Given the description of an element on the screen output the (x, y) to click on. 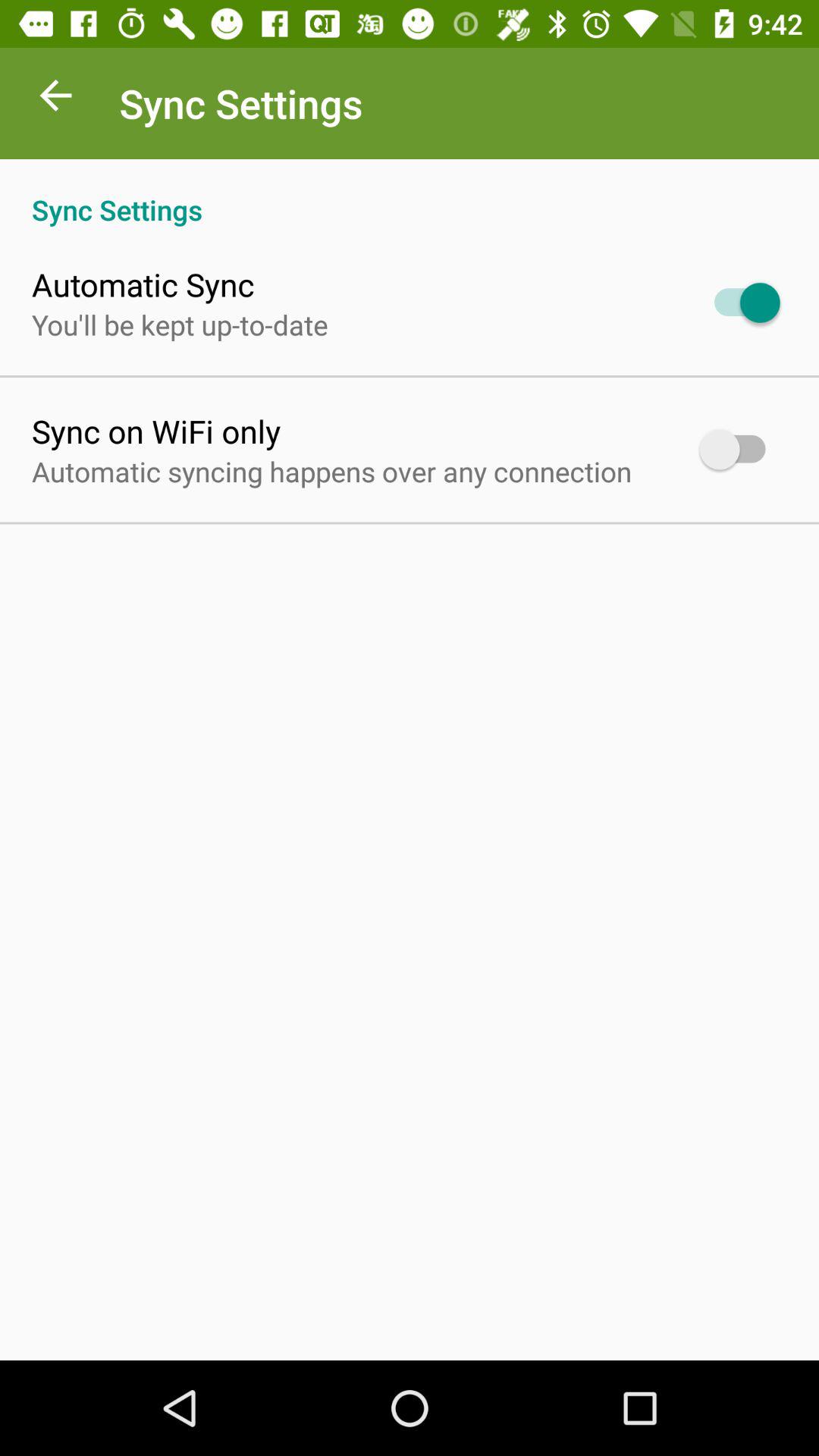
turn off the item to the left of the sync settings icon (55, 99)
